Given the description of an element on the screen output the (x, y) to click on. 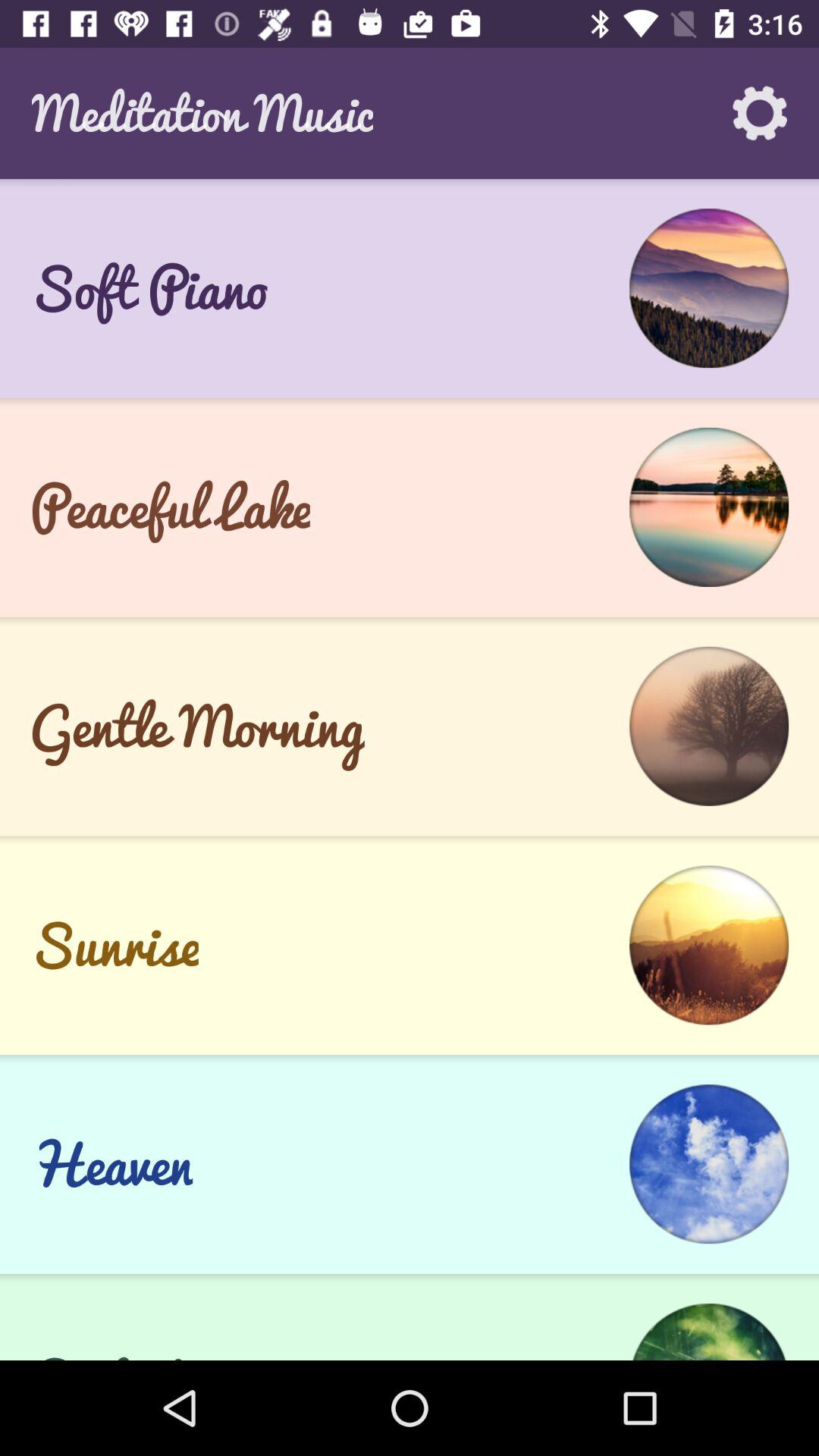
scroll until gentle morning app (197, 726)
